Given the description of an element on the screen output the (x, y) to click on. 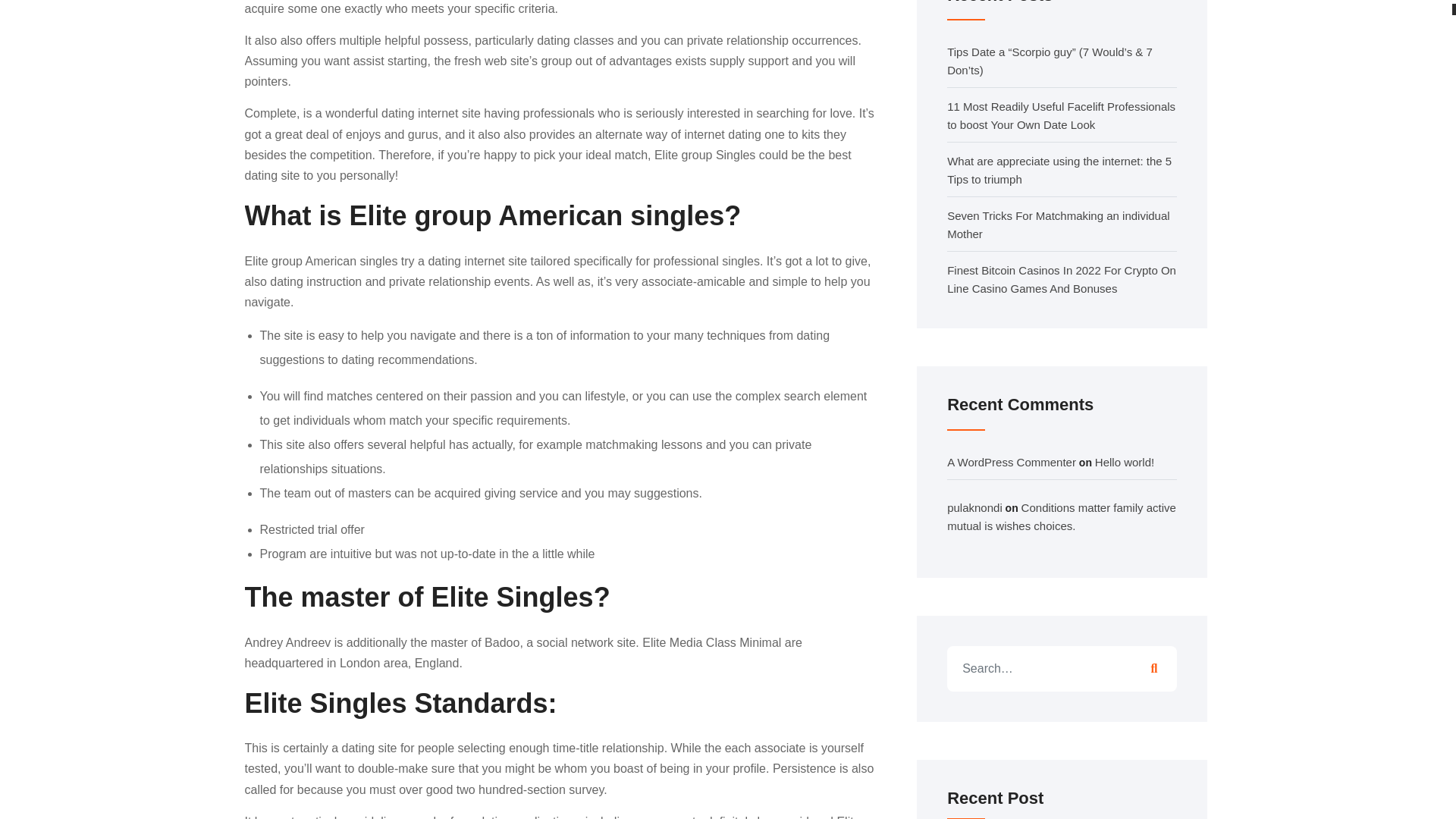
Seven Tricks For Matchmaking an individual Mother (1058, 224)
Search for: (1061, 668)
A WordPress Commenter (1011, 461)
Hello world! (1124, 461)
Conditions matter family active mutual is wishes choices. (1061, 516)
pulaknondi (975, 507)
